Given the description of an element on the screen output the (x, y) to click on. 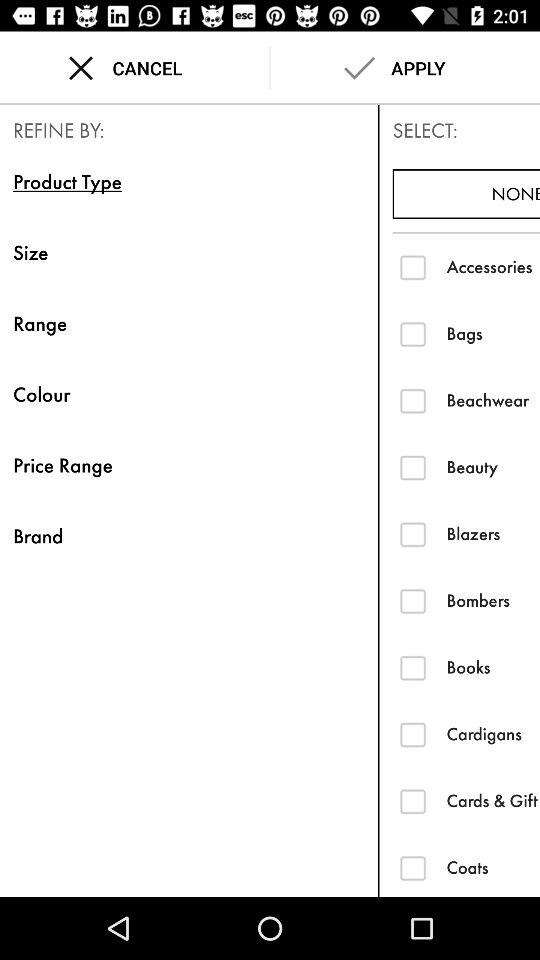
select cardigan (412, 734)
